Given the description of an element on the screen output the (x, y) to click on. 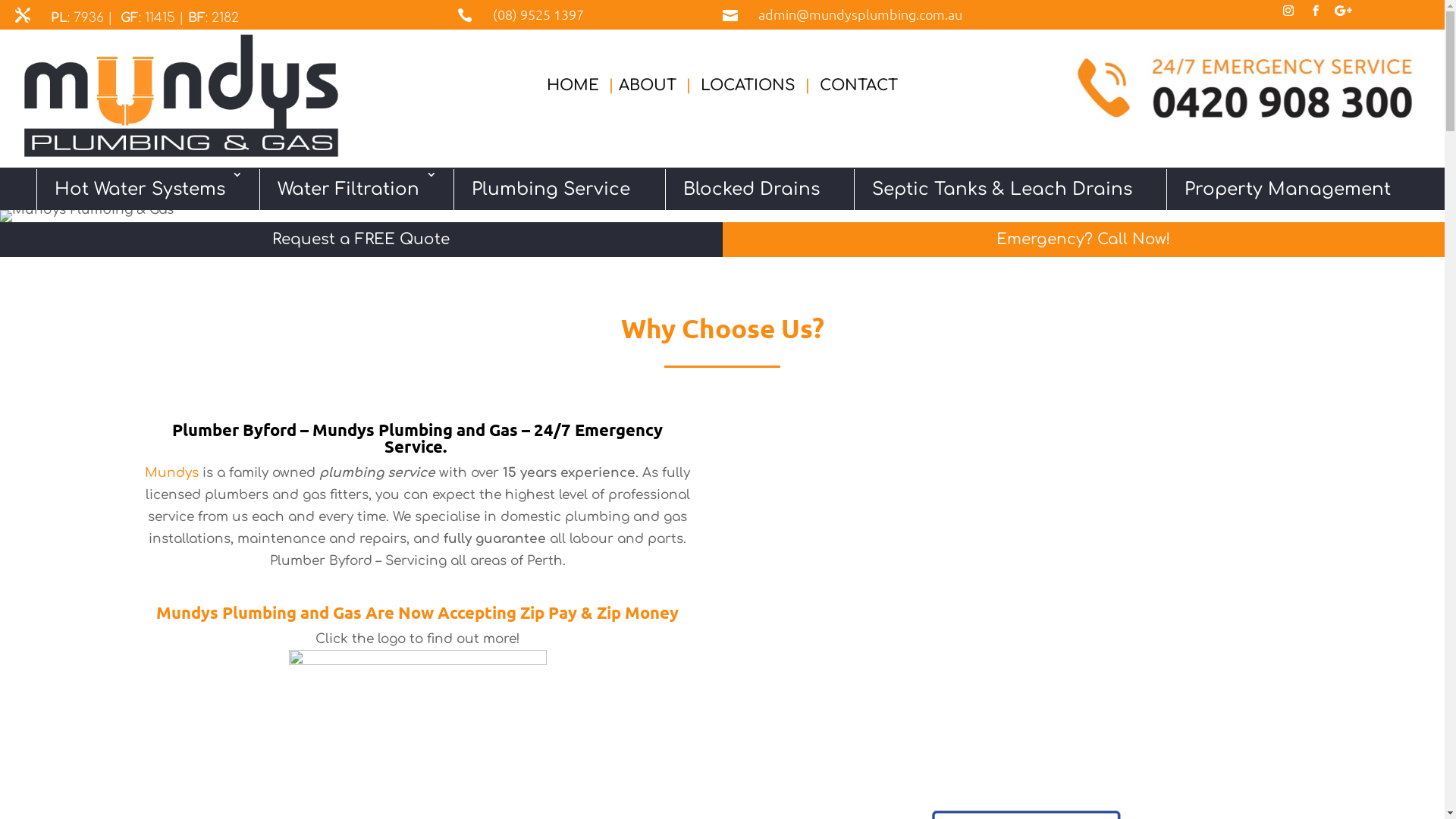
Water Filtration Element type: text (347, 189)
Hot Water Systems Element type: text (139, 189)
Follow on Instagram Element type: hover (1288, 10)
Follow on Facebook Element type: hover (1315, 10)
Mundys Plumbing & Gas Element type: hover (86, 216)
Emergency? Call Now! Element type: text (1083, 239)
24hr Emergency Service Element type: hover (1245, 87)
Property Management Element type: text (1287, 189)
Septic Tanks & Leach Drains Element type: text (1001, 189)
Request a FREE Quote Element type: text (360, 239)
Plumbing Service Element type: text (550, 189)
CONTACT Element type: text (858, 85)
Follow on Google+ Element type: hover (1342, 10)
Mundys Plumbing & Gas Element type: hover (180, 95)
ABOUT Element type: text (647, 85)
Send Element type: text (53, 9)
Blocked Drains Element type: text (750, 189)
LOCATIONS Element type: text (747, 85)
Mundys Element type: text (171, 472)
HOME Element type: text (572, 85)
